Given the description of an element on the screen output the (x, y) to click on. 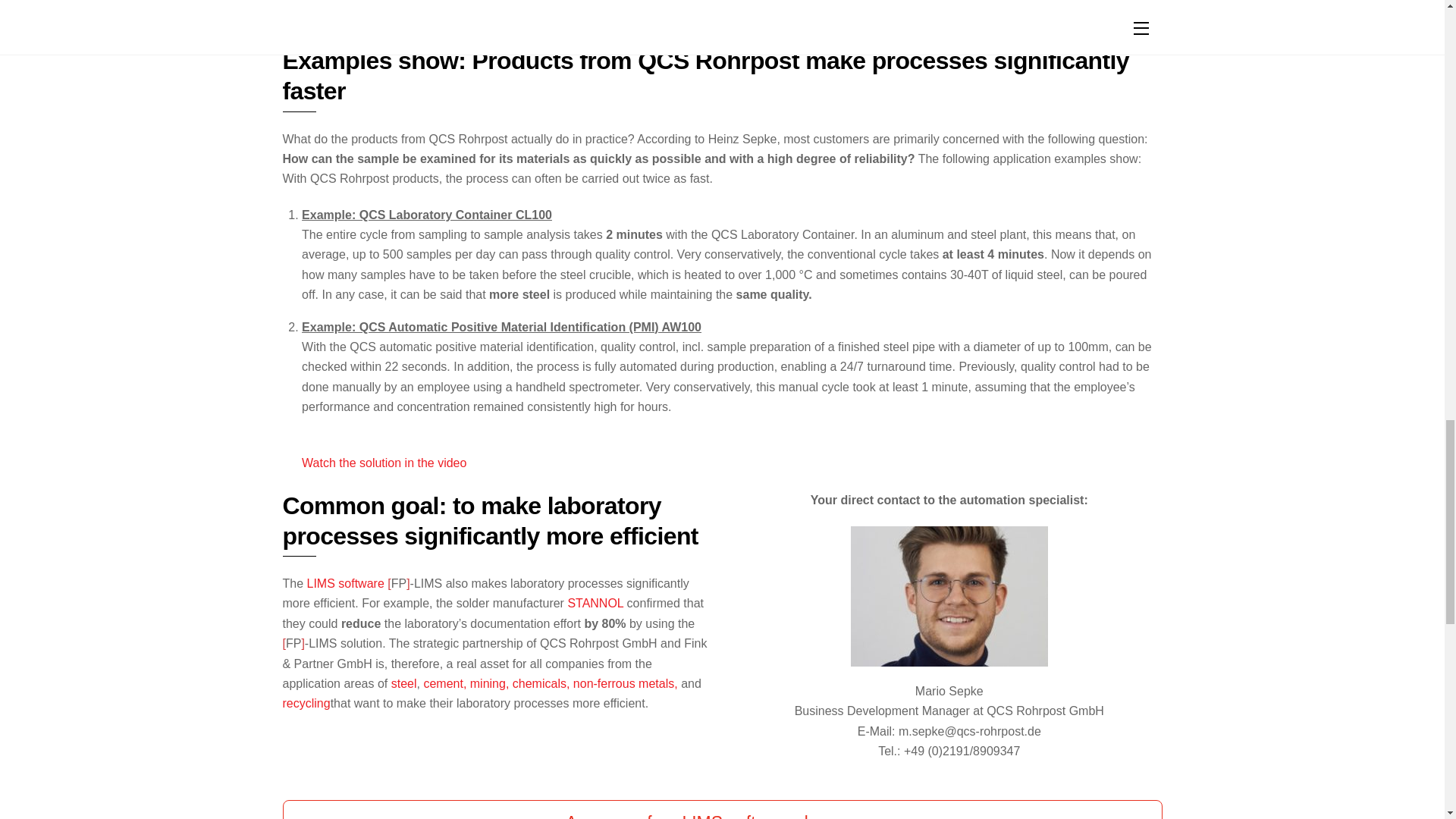
Watch the solution in the video (383, 462)
mining, (489, 683)
LIMS software (345, 583)
chemicals, (541, 683)
Arrange a free LIMS software demo now (721, 809)
recycling (306, 703)
non-ferrous metals, (625, 683)
cement, (444, 683)
steel (401, 683)
STANNOL (595, 603)
